Given the description of an element on the screen output the (x, y) to click on. 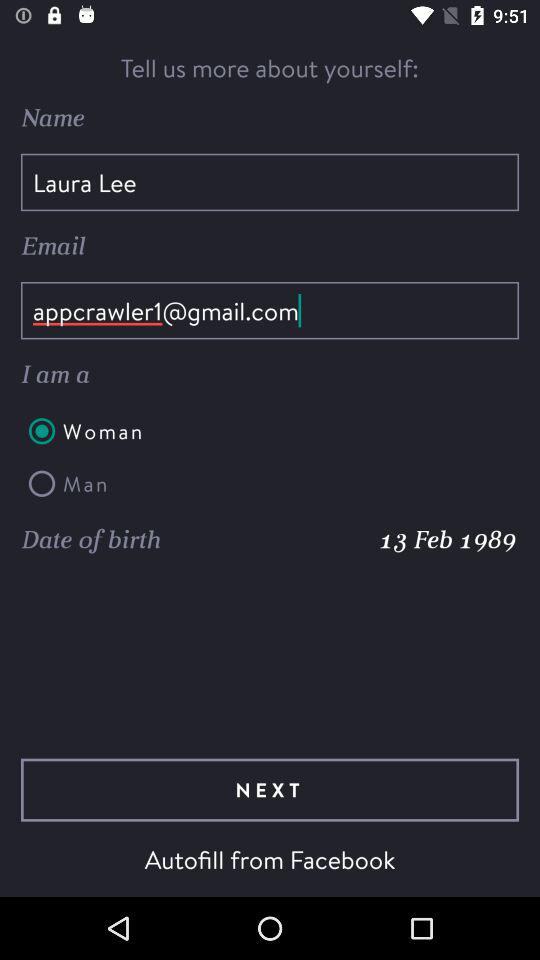
open the icon above i am a item (269, 310)
